Given the description of an element on the screen output the (x, y) to click on. 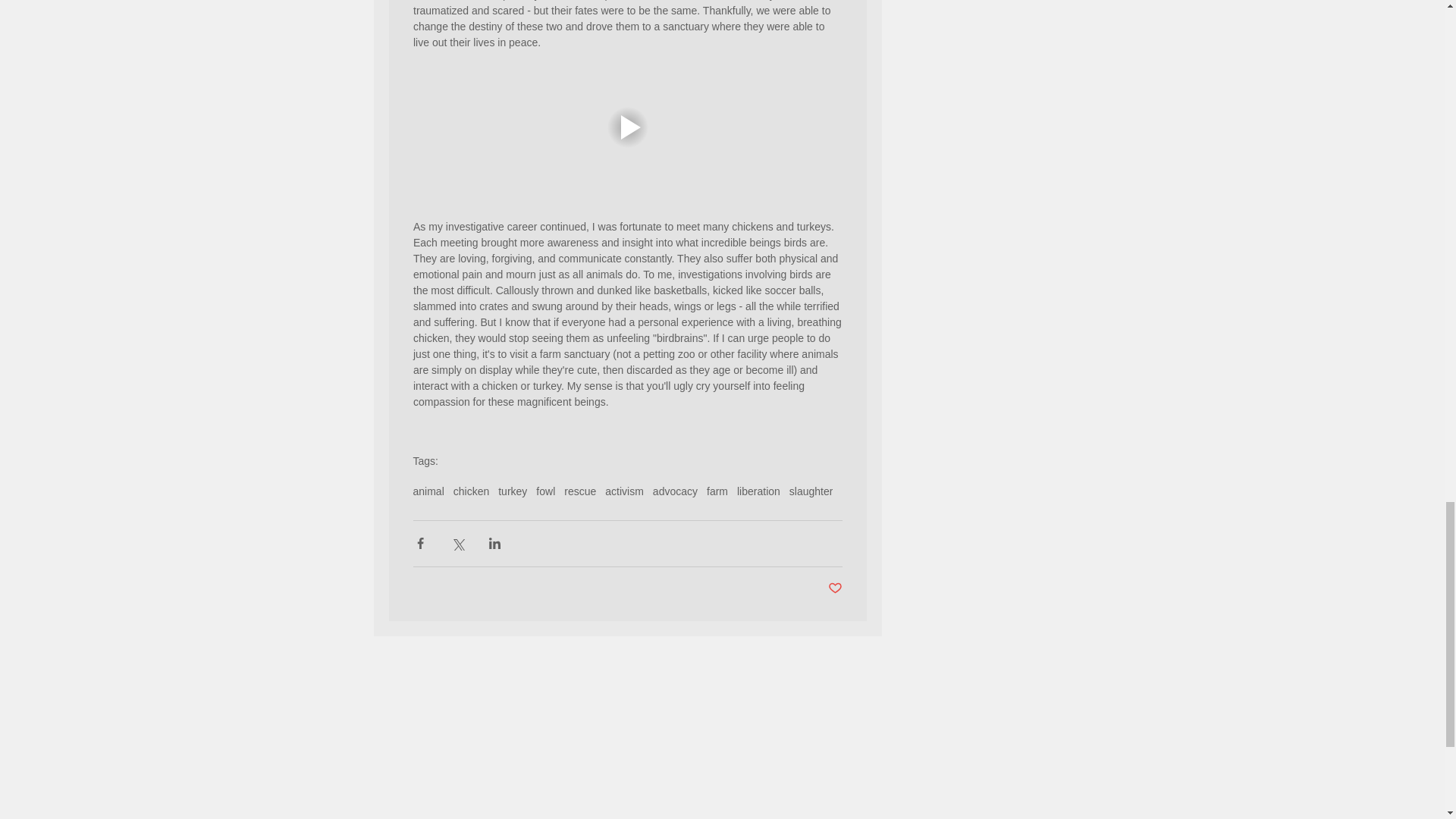
animal (428, 491)
slaughter (810, 491)
Post not marked as liked (835, 588)
rescue (579, 491)
activism (624, 491)
fowl (544, 491)
farm (717, 491)
turkey (512, 491)
liberation (758, 491)
chicken (470, 491)
